Given the description of an element on the screen output the (x, y) to click on. 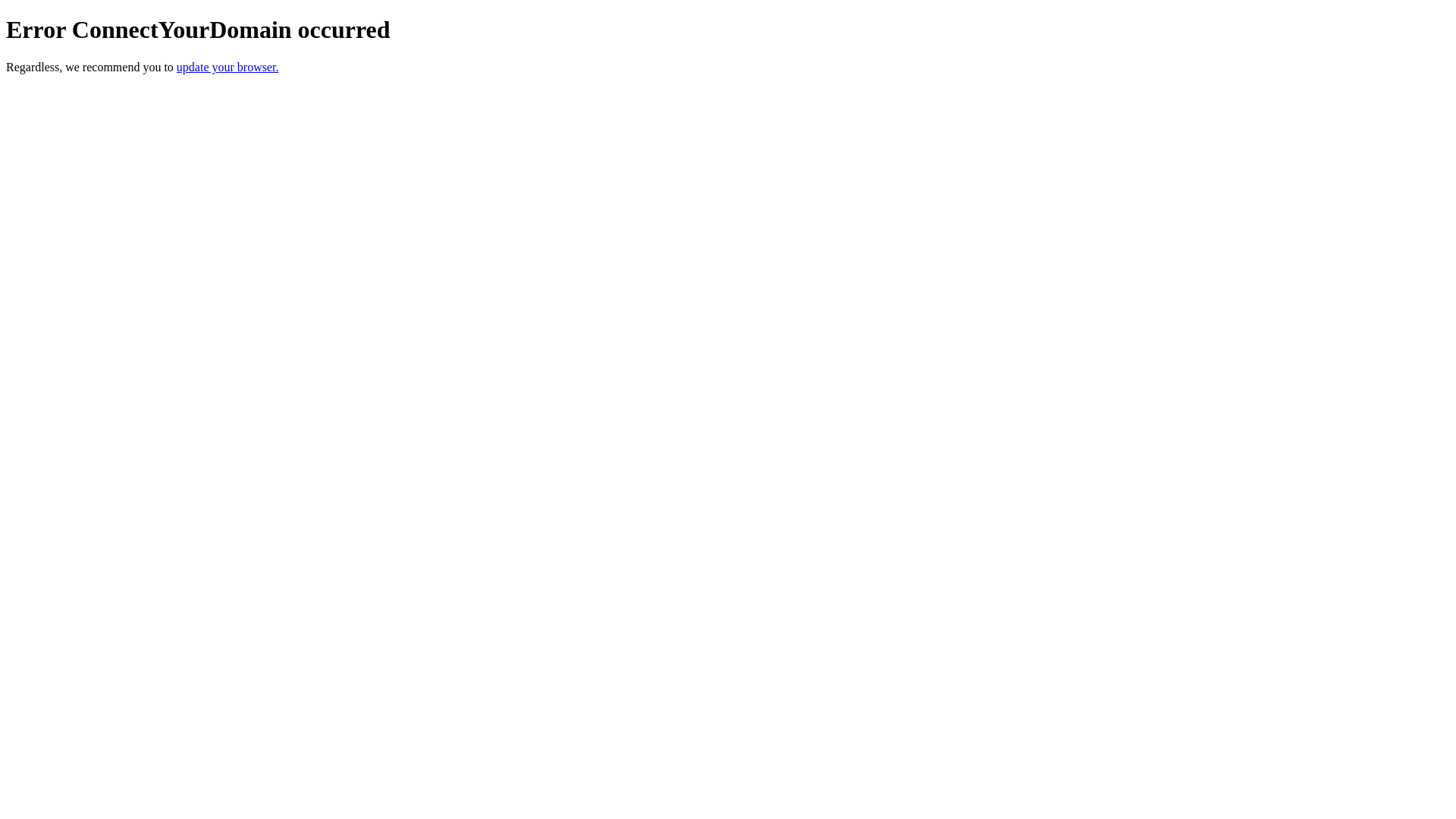
update your browser. Element type: text (227, 66)
